Given the description of an element on the screen output the (x, y) to click on. 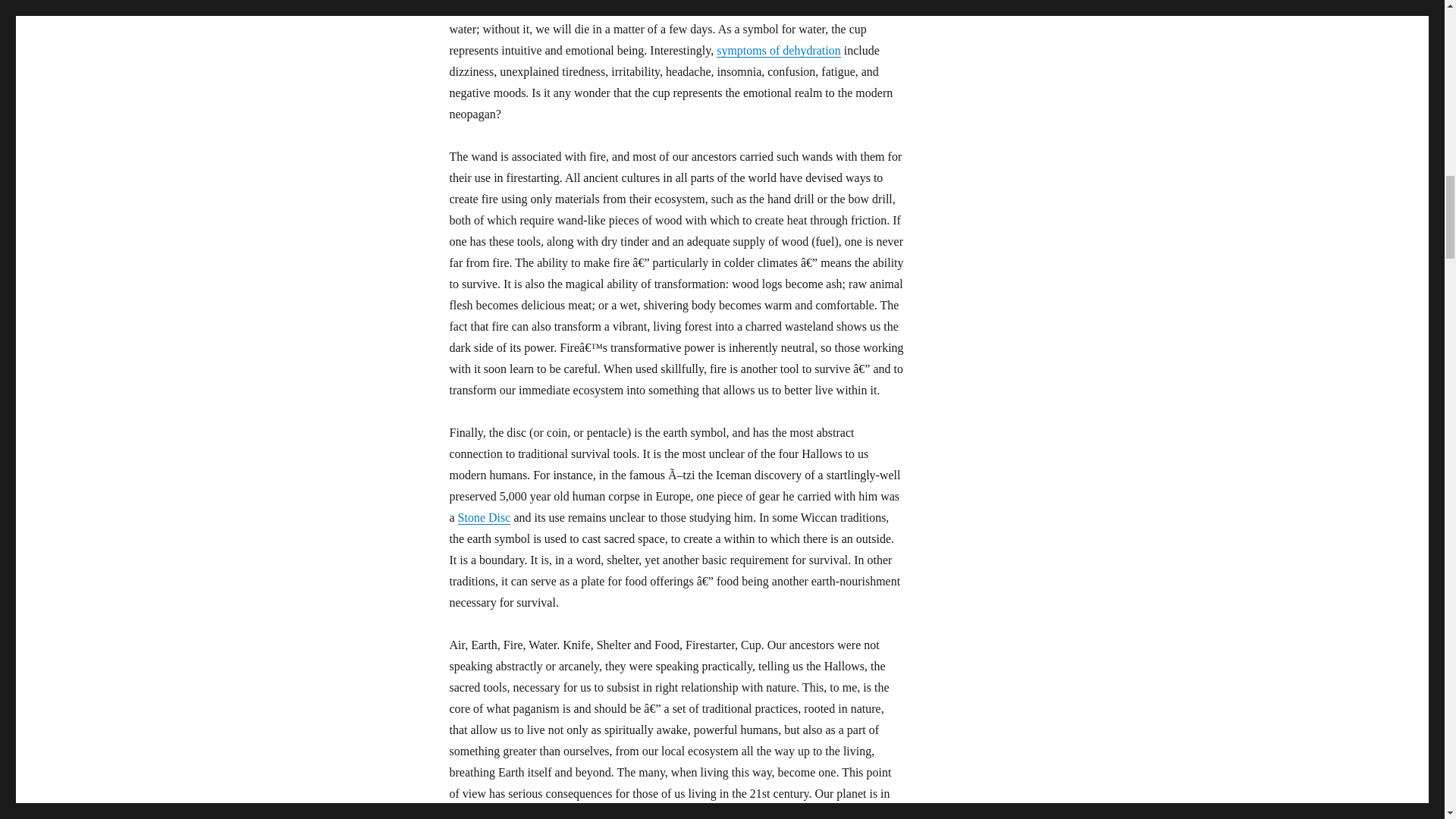
Stone Disc (484, 517)
symptoms of dehydration (778, 50)
